Given the description of an element on the screen output the (x, y) to click on. 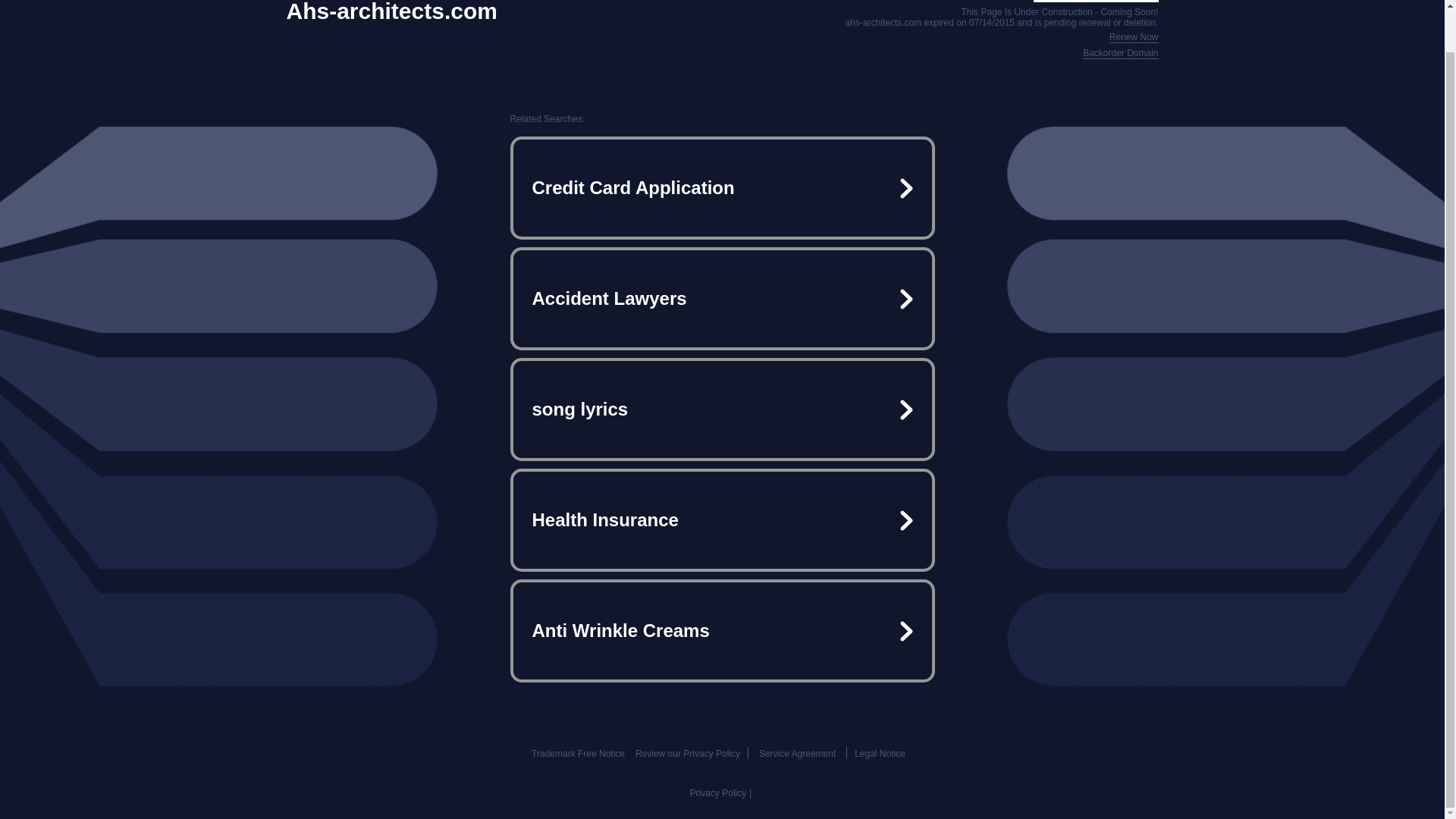
Legal Notice (879, 753)
Trademark Free Notice (577, 753)
Health Insurance (721, 519)
Review our Privacy Policy (686, 753)
Anti Wrinkle Creams (721, 630)
Health Insurance (721, 519)
song lyrics (721, 409)
Ahs-architects.com (391, 12)
Renew Now (1133, 37)
Privacy Policy (718, 792)
